Given the description of an element on the screen output the (x, y) to click on. 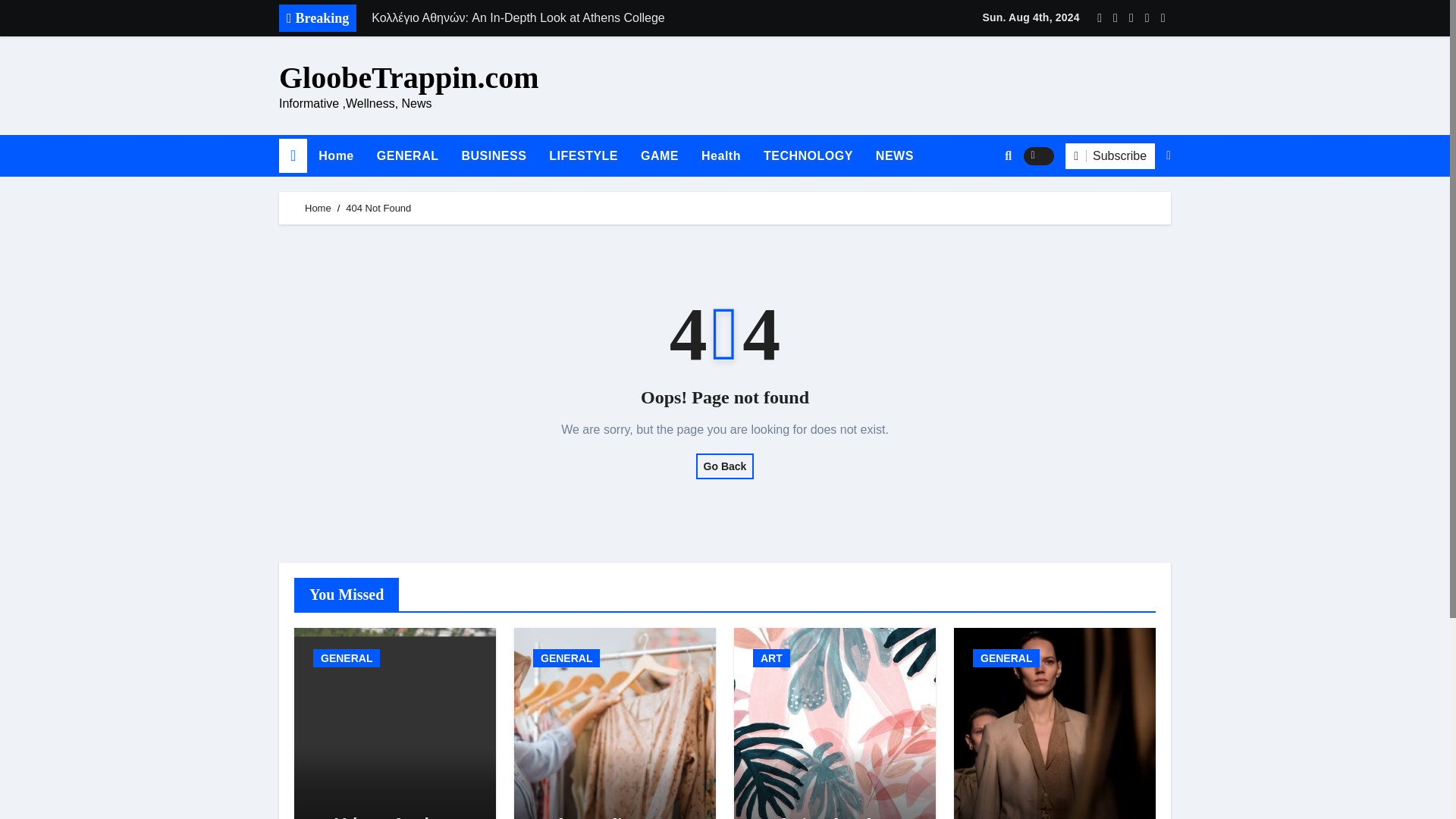
LIFESTYLE (582, 155)
TECHNOLOGY (808, 155)
BUSINESS (493, 155)
GloobeTrappin.com (408, 77)
BUSINESS (493, 155)
LIFESTYLE (582, 155)
GENERAL (407, 155)
Health (721, 155)
Home (317, 207)
Home (336, 155)
TECHNOLOGY (808, 155)
GAME (659, 155)
Home (336, 155)
GENERAL (346, 658)
